Given the description of an element on the screen output the (x, y) to click on. 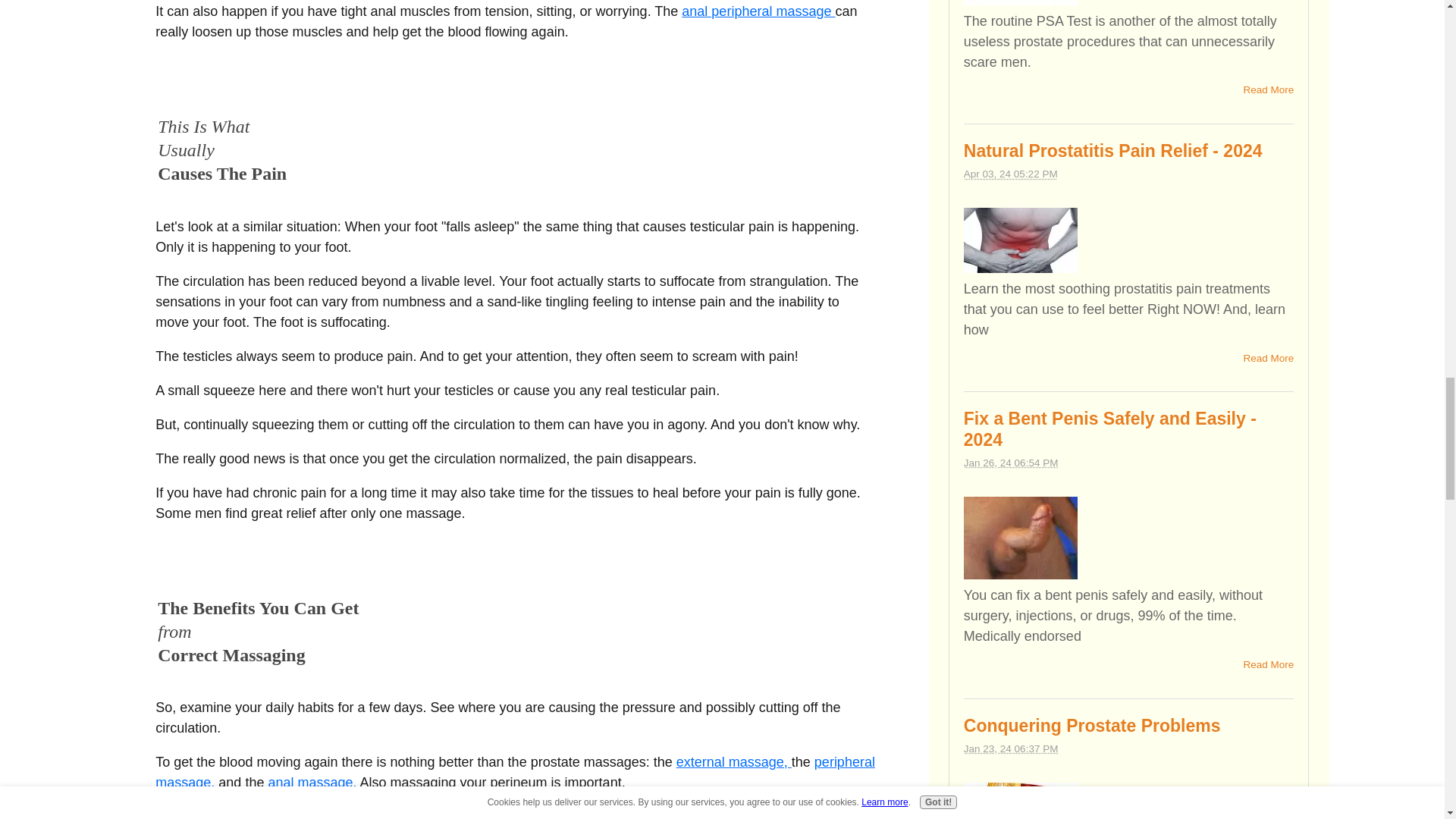
2024-01-26T18:54:14-0500 (1010, 462)
2024-04-03T17:22:14-0400 (1010, 173)
2024-01-23T18:37:38-0500 (1010, 748)
